Given the description of an element on the screen output the (x, y) to click on. 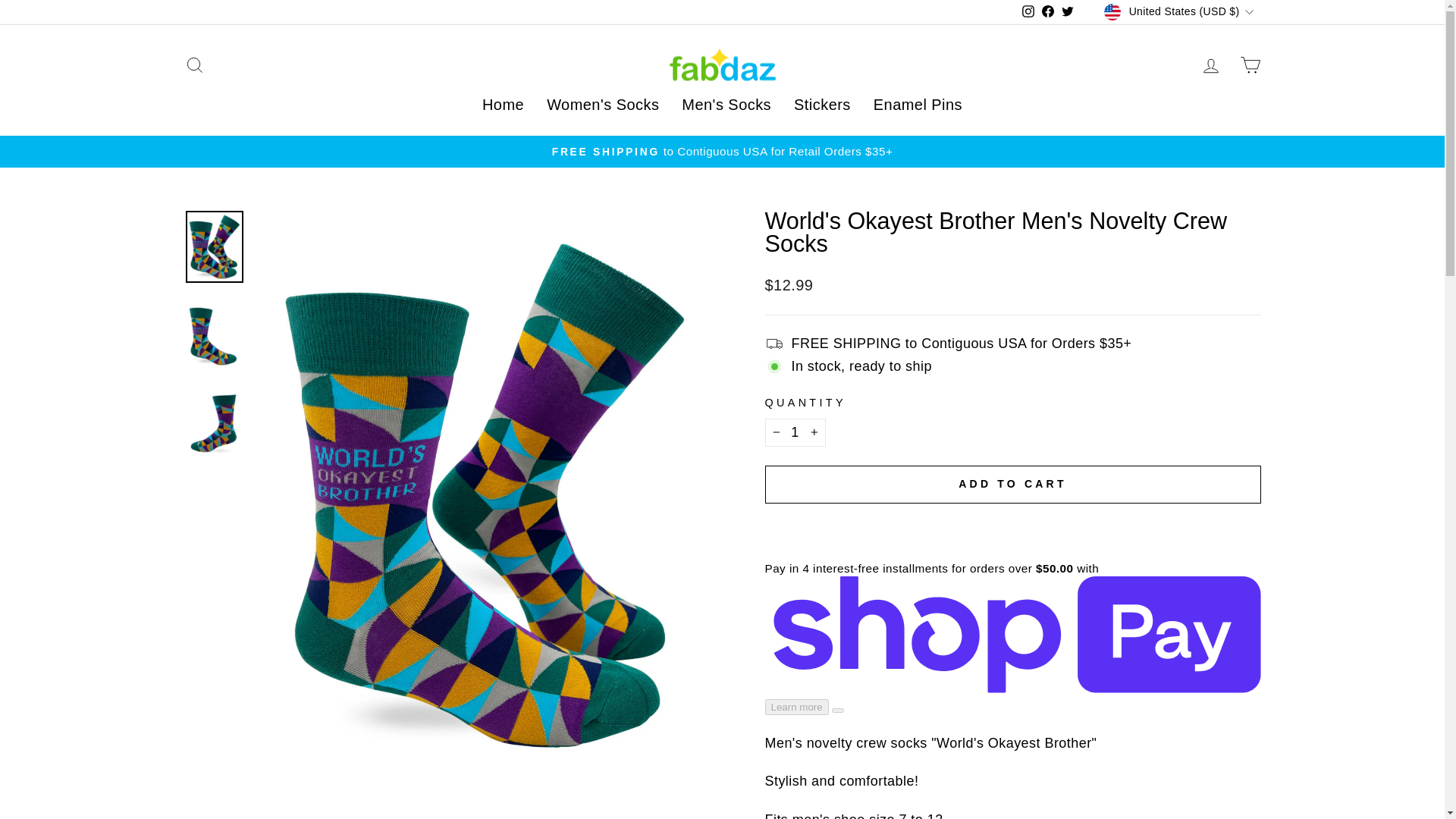
1 (794, 432)
account (1210, 65)
instagram (1027, 10)
icon-search (194, 65)
twitter (1067, 10)
